Given the description of an element on the screen output the (x, y) to click on. 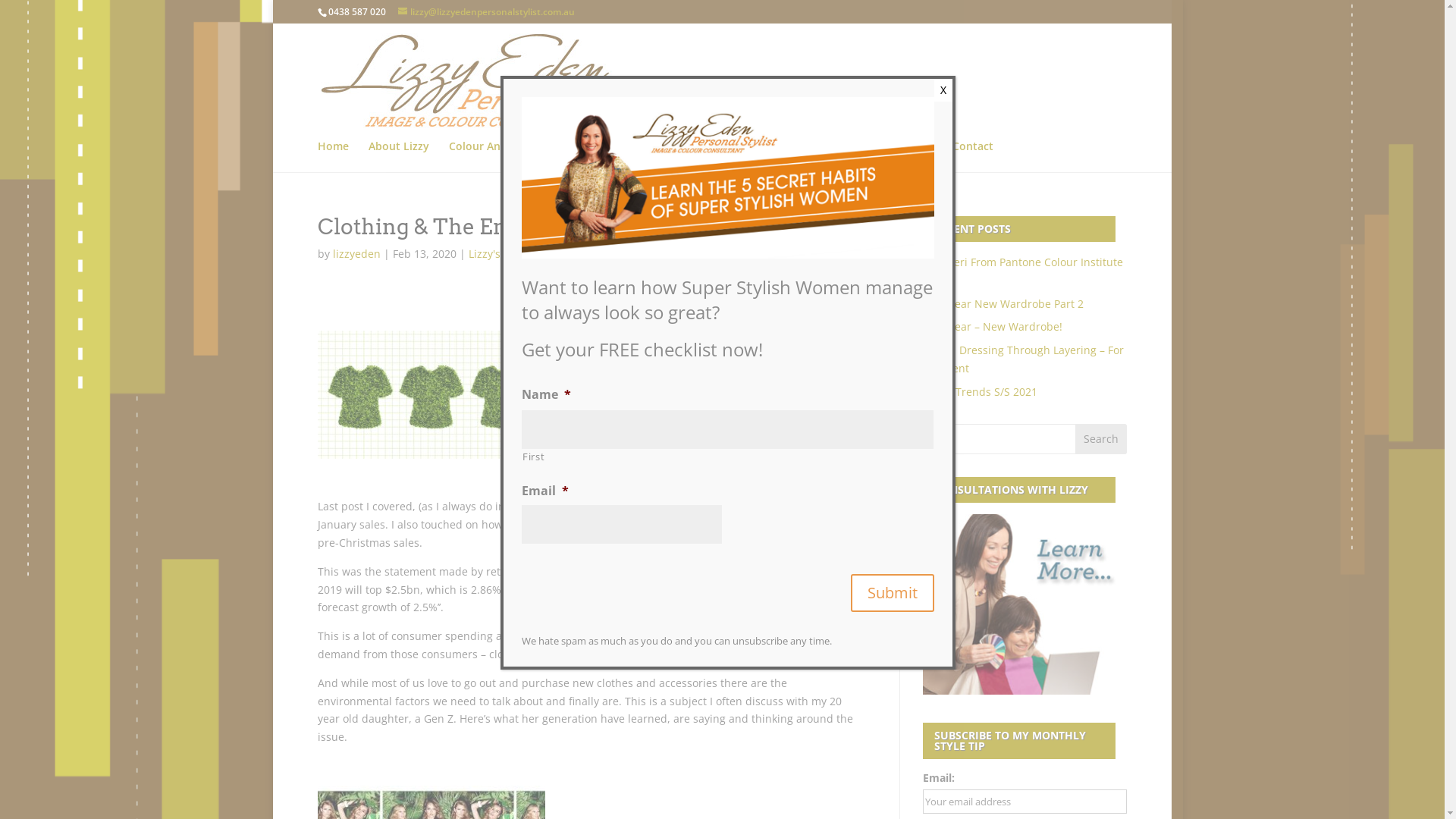
New Year New Wardrobe Part 2 Element type: text (1002, 303)
About Lizzy Element type: text (398, 156)
Portfolio Element type: text (765, 156)
Home Element type: text (332, 156)
Blog Element type: text (921, 156)
Very Peri From Pantone Colour Institute 2022 Element type: text (1022, 270)
Lizzy's Blog Element type: text (496, 253)
lizzy@lizzyedenpersonalstylist.com.au Element type: text (486, 11)
Consultations Element type: text (585, 156)
Client Feedback Element type: text (849, 156)
Colour Analysis Element type: text (488, 156)
Client Packages Element type: text (681, 156)
lizzyeden Element type: text (356, 253)
Contact Element type: text (972, 156)
Search Element type: text (1100, 438)
0 comments Element type: text (568, 253)
X Element type: text (943, 89)
Submit Element type: text (892, 592)
